Given the description of an element on the screen output the (x, y) to click on. 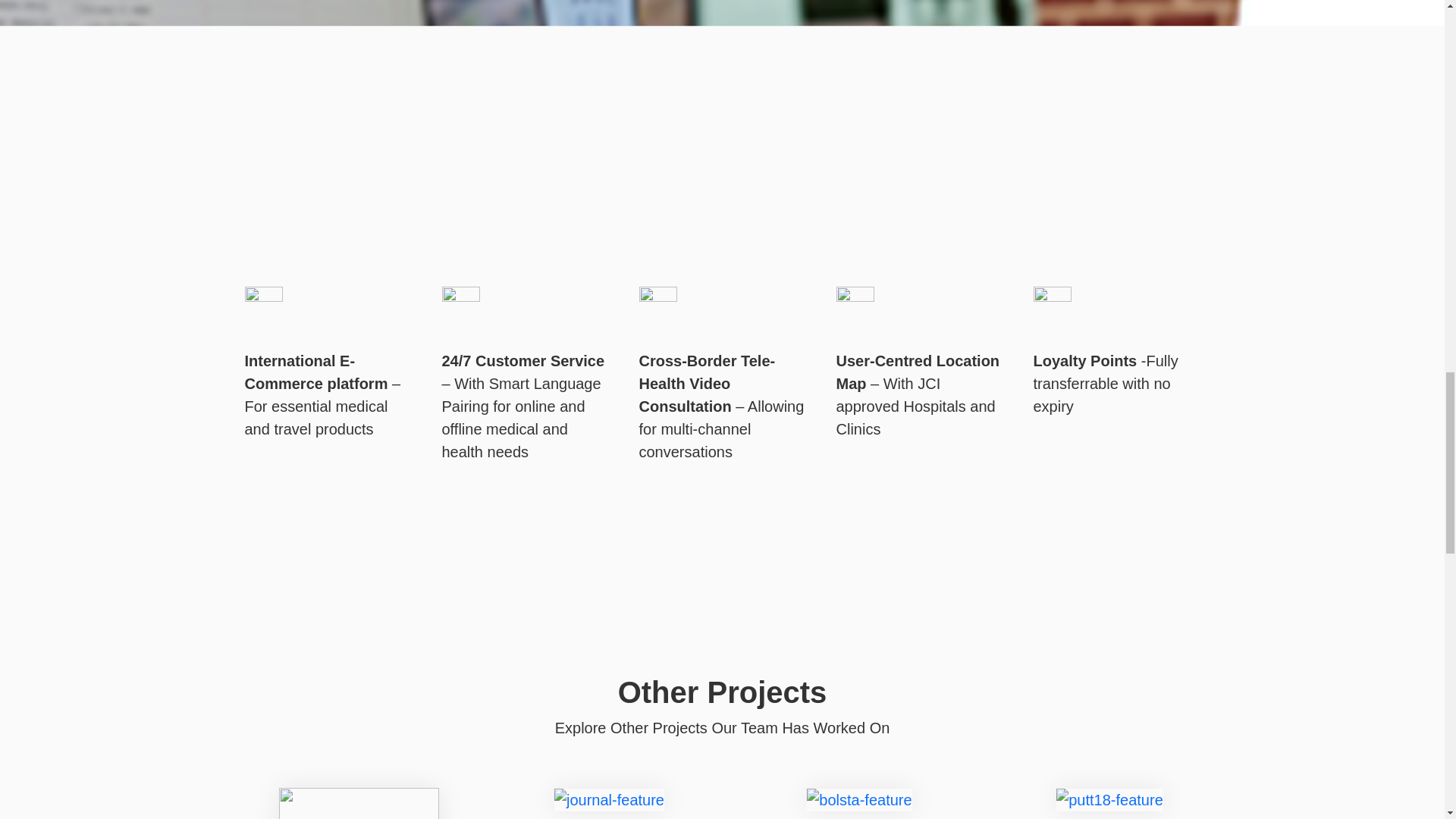
My Gratitude Journal (608, 799)
Bolsta Raffles (858, 799)
Putt18 (1110, 799)
